Given the description of an element on the screen output the (x, y) to click on. 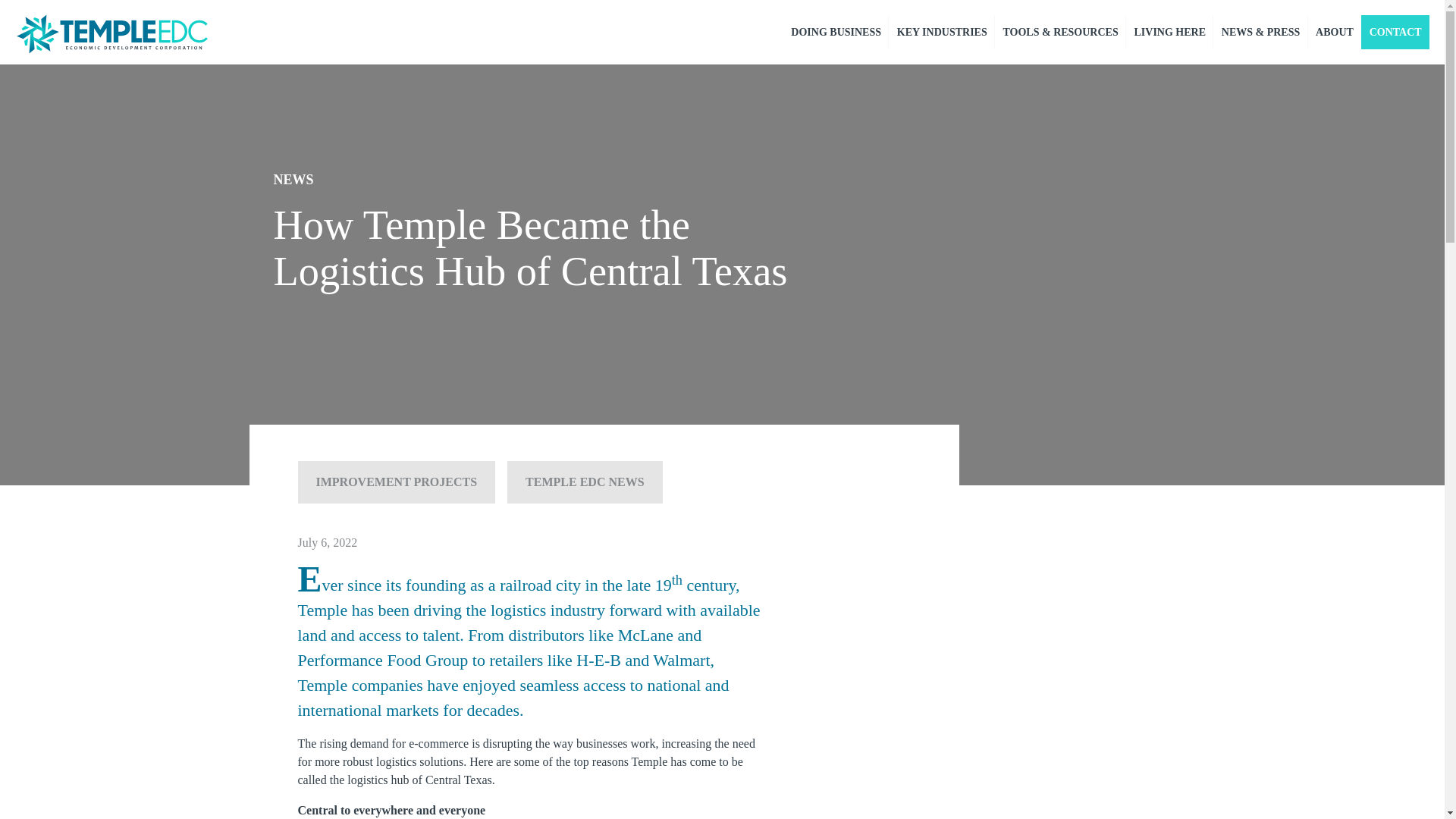
IMPROVEMENT PROJECTS (396, 482)
TEMPLE EDC NEWS (584, 482)
DOING BUSINESS (835, 32)
LIVING HERE (1168, 32)
CONTACT (1395, 32)
ABOUT (1334, 32)
KEY INDUSTRIES (941, 32)
